Given the description of an element on the screen output the (x, y) to click on. 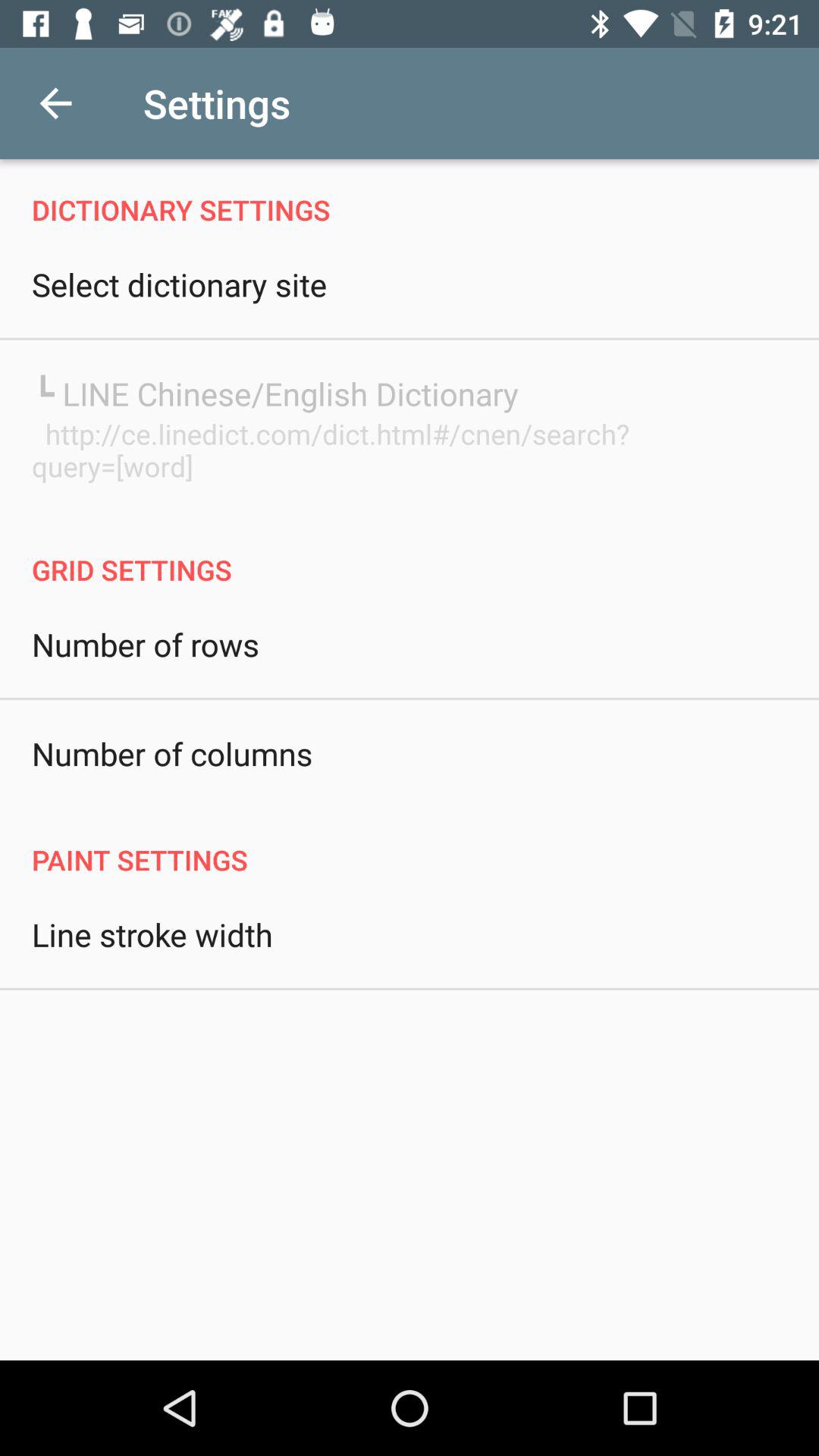
flip to the grid settings (409, 553)
